Given the description of an element on the screen output the (x, y) to click on. 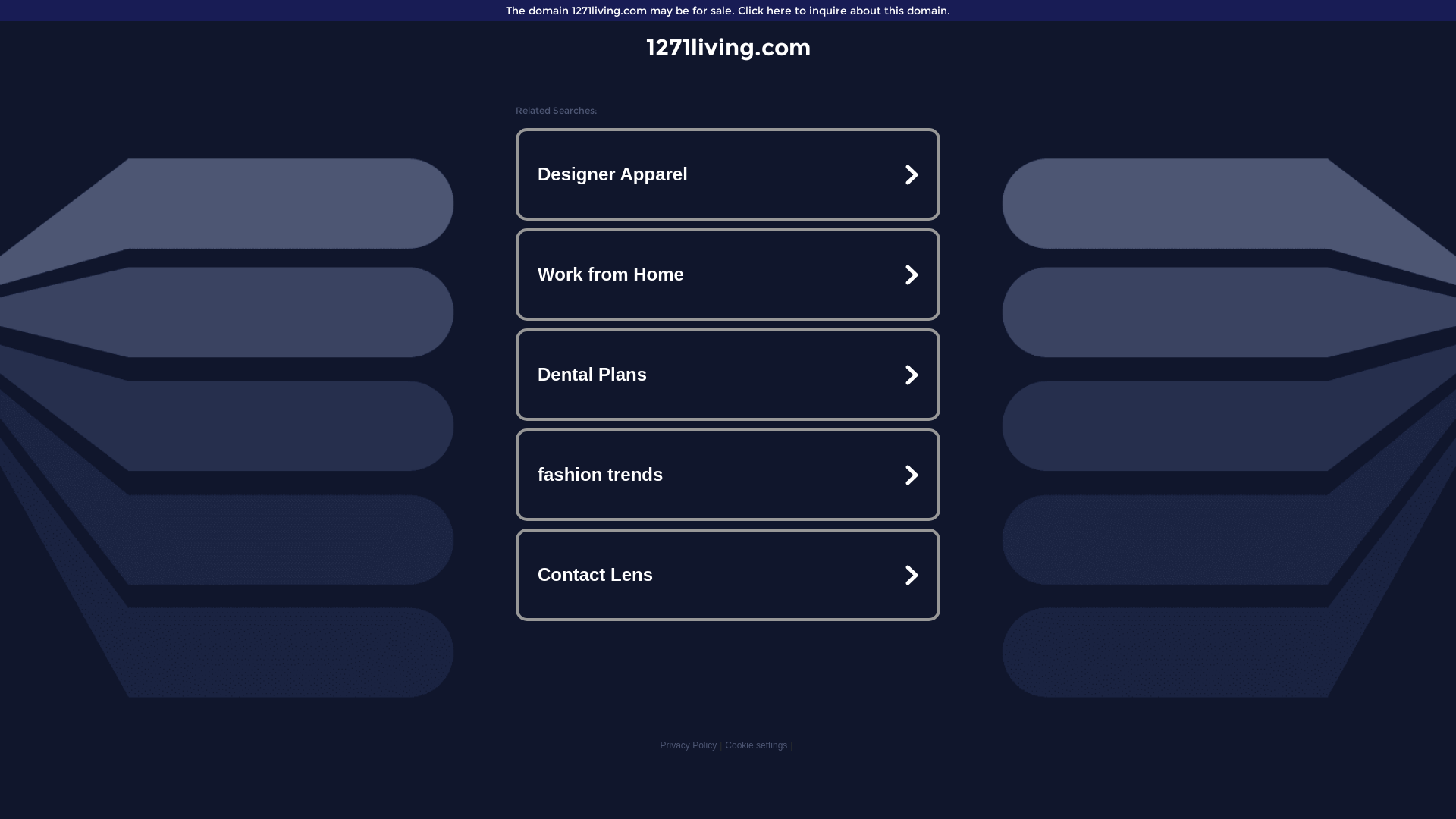
Contact Lens Element type: text (727, 574)
Privacy Policy Element type: text (687, 745)
Dental Plans Element type: text (727, 374)
Work from Home Element type: text (727, 274)
1271living.com Element type: text (728, 47)
Designer Apparel Element type: text (727, 174)
fashion trends Element type: text (727, 474)
Cookie settings Element type: text (755, 745)
